Given the description of an element on the screen output the (x, y) to click on. 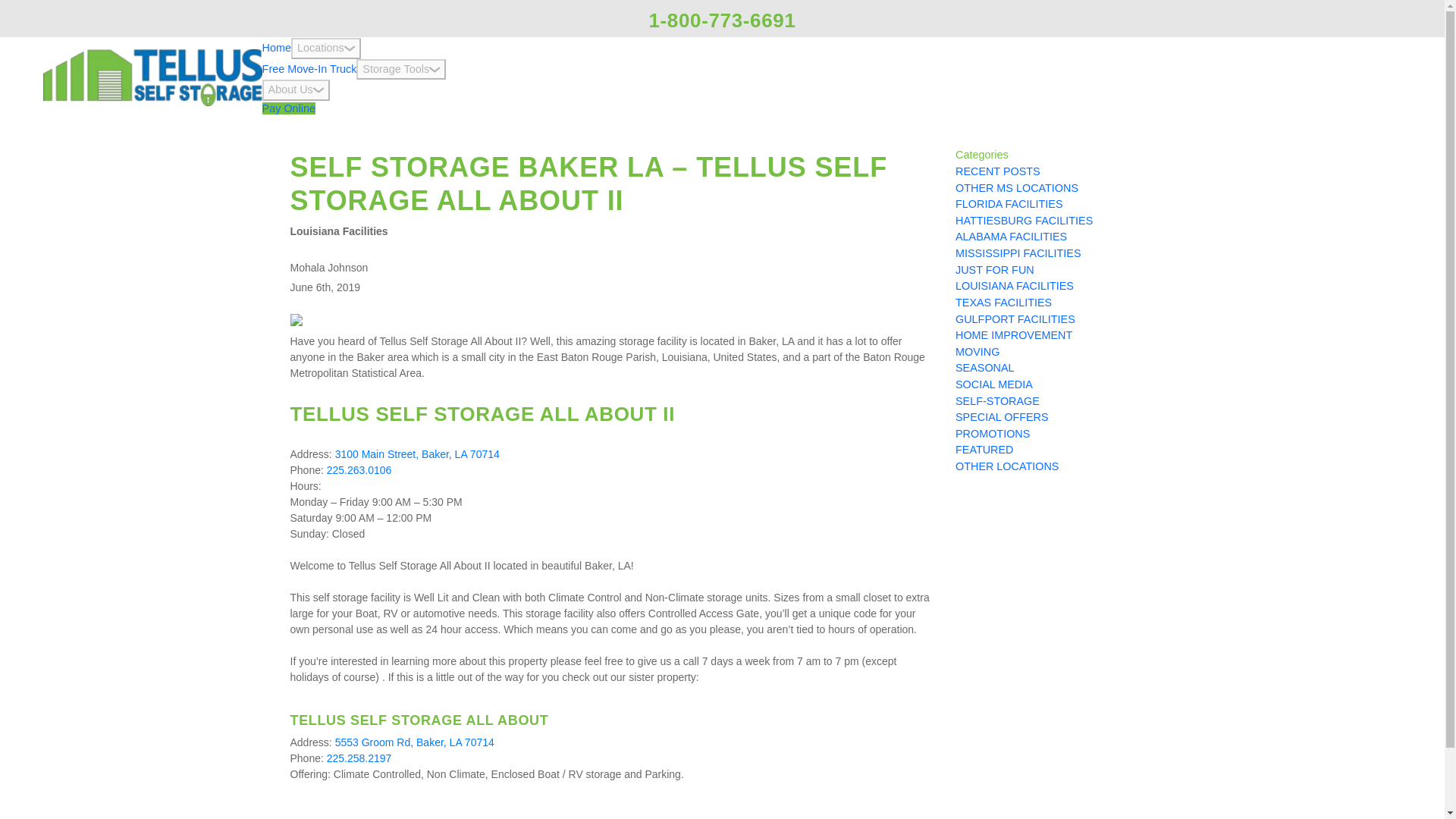
JUST FOR FUN (994, 269)
MOVING (976, 351)
TELLUS SELF STORAGE ALL ABOUT (418, 717)
SPECIAL OFFERS (1001, 417)
SEASONAL (984, 367)
OTHER MS LOCATIONS (1016, 187)
LOUISIANA FACILITIES (1014, 285)
TEXAS FACILITIES (1003, 302)
Free Move-In Truck (309, 69)
Louisiana Facilities (338, 231)
